Given the description of an element on the screen output the (x, y) to click on. 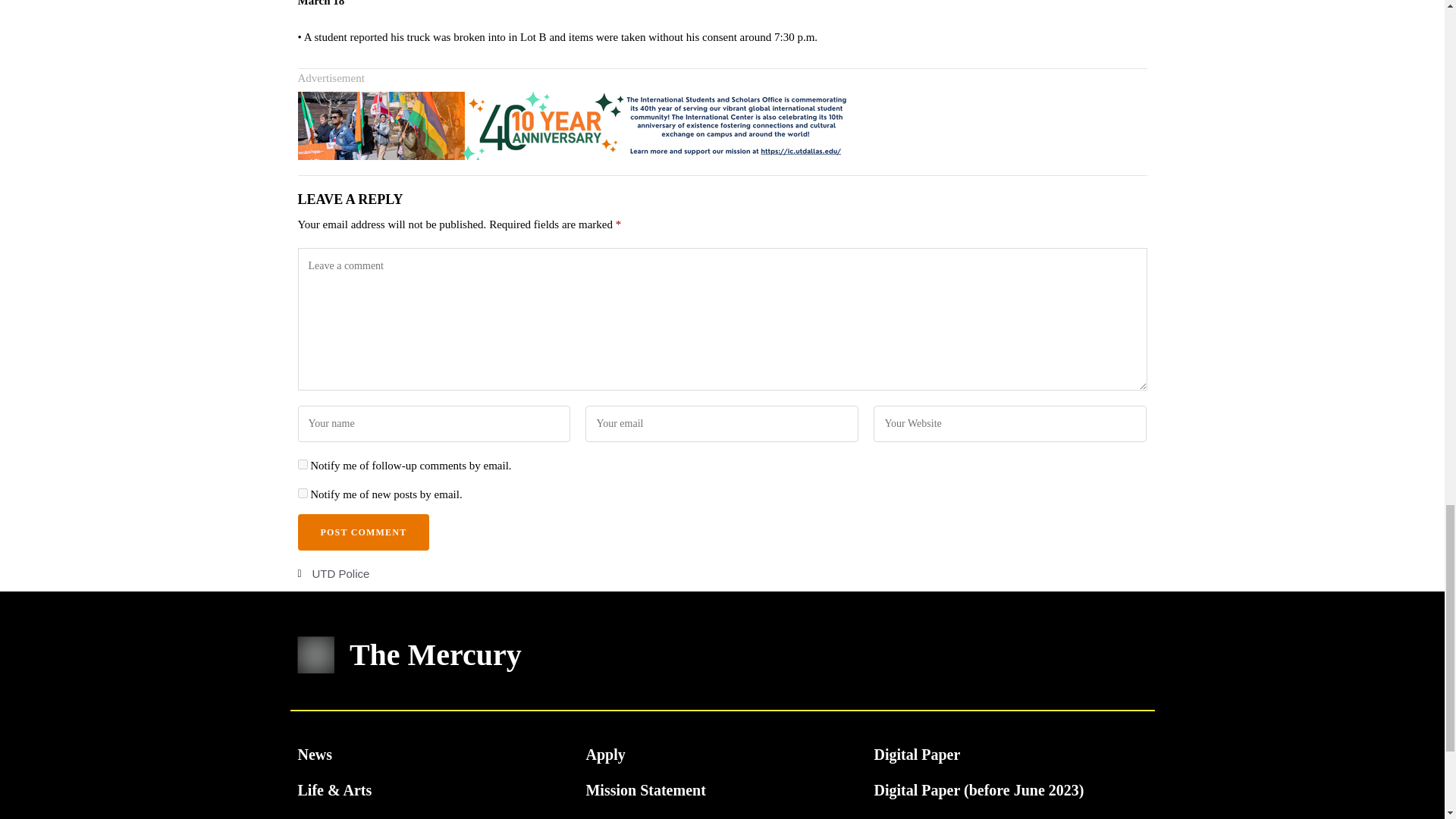
Post Comment (363, 532)
subscribe (302, 464)
subscribe (302, 492)
